Given the description of an element on the screen output the (x, y) to click on. 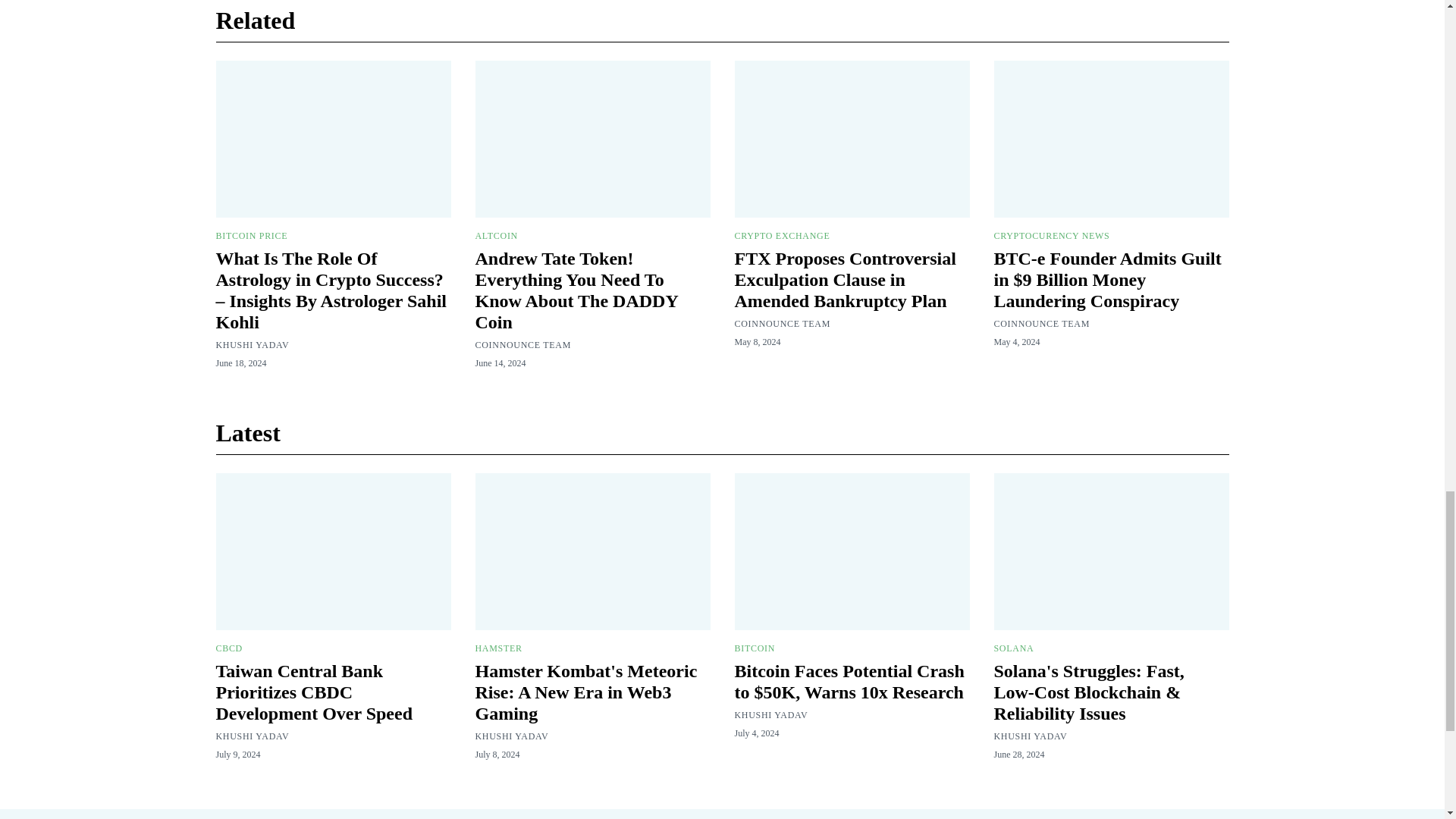
COINNOUNCE TEAM (781, 323)
ALTCOIN (495, 235)
CRYPTO EXCHANGE (781, 235)
BITCOIN PRICE (250, 235)
COINNOUNCE TEAM (1040, 323)
CRYPTOCURENCY NEWS (1050, 235)
KHUSHI YADAV (251, 345)
COINNOUNCE TEAM (522, 345)
